Given the description of an element on the screen output the (x, y) to click on. 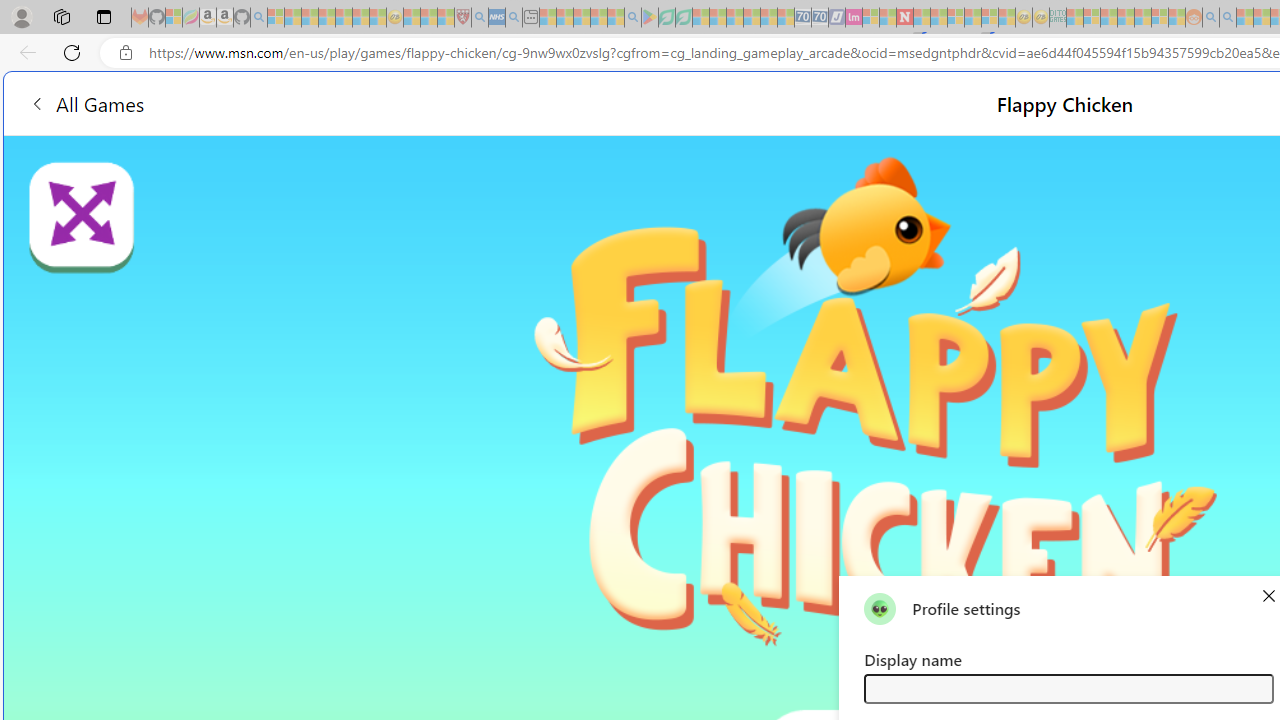
Robert H. Shmerling, MD - Harvard Health - Sleeping (462, 17)
Latest Politics News & Archive | Newsweek.com - Sleeping (904, 17)
Kinda Frugal - MSN - Sleeping (1142, 17)
Recipes - MSN - Sleeping (411, 17)
Terms of Use Agreement - Sleeping (666, 17)
View site information (125, 53)
Refresh (72, 52)
New Report Confirms 2023 Was Record Hot | Watch - Sleeping (343, 17)
New tab - Sleeping (530, 17)
Class: text-input (1068, 688)
